Given the description of an element on the screen output the (x, y) to click on. 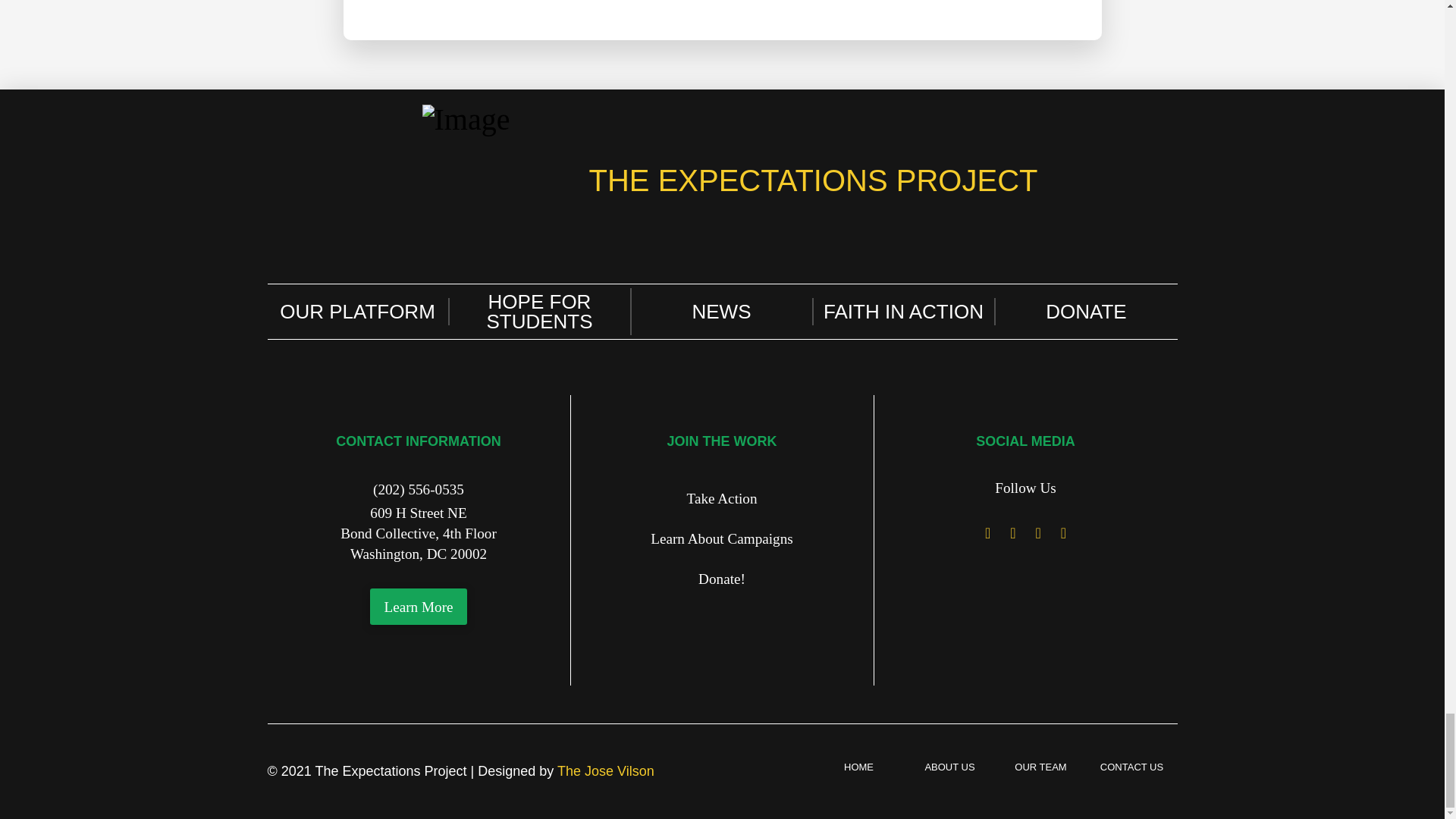
HOPE FOR STUDENTS (539, 311)
Learn About Campaigns (721, 538)
ABOUT US (949, 767)
FAITH IN ACTION (903, 311)
CONTACT US (1131, 767)
Donate! (721, 578)
Learn More (418, 606)
The Jose Vilson (605, 770)
HOME (858, 767)
OUR PLATFORM (357, 311)
